Given the description of an element on the screen output the (x, y) to click on. 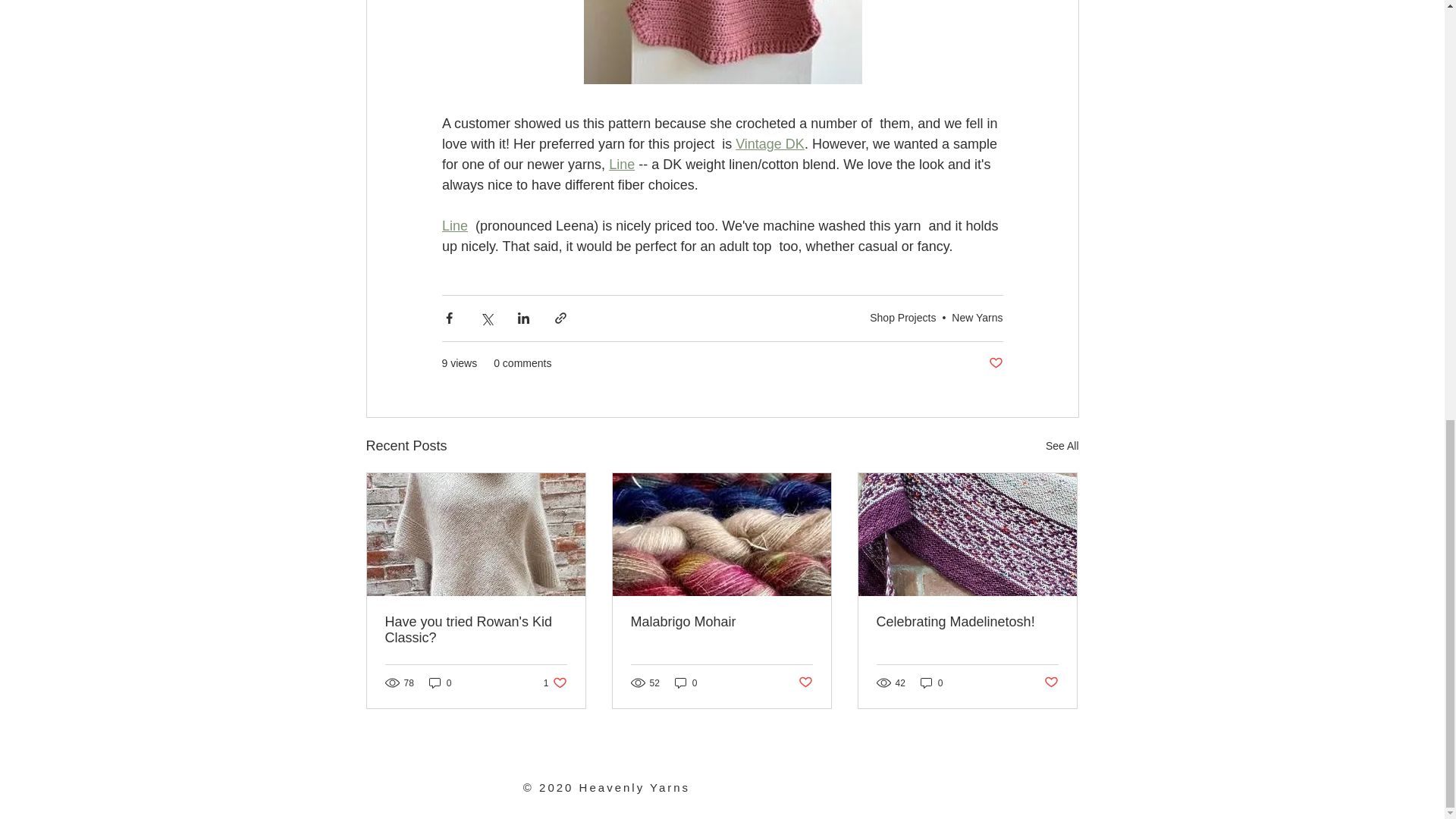
Shop Projects (902, 317)
0 (440, 682)
See All (1061, 445)
Vintage DK (770, 143)
Post not marked as liked (995, 363)
Line (621, 164)
Line (454, 225)
New Yarns (977, 317)
Have you tried Rowan's Kid Classic? (476, 630)
